Given the description of an element on the screen output the (x, y) to click on. 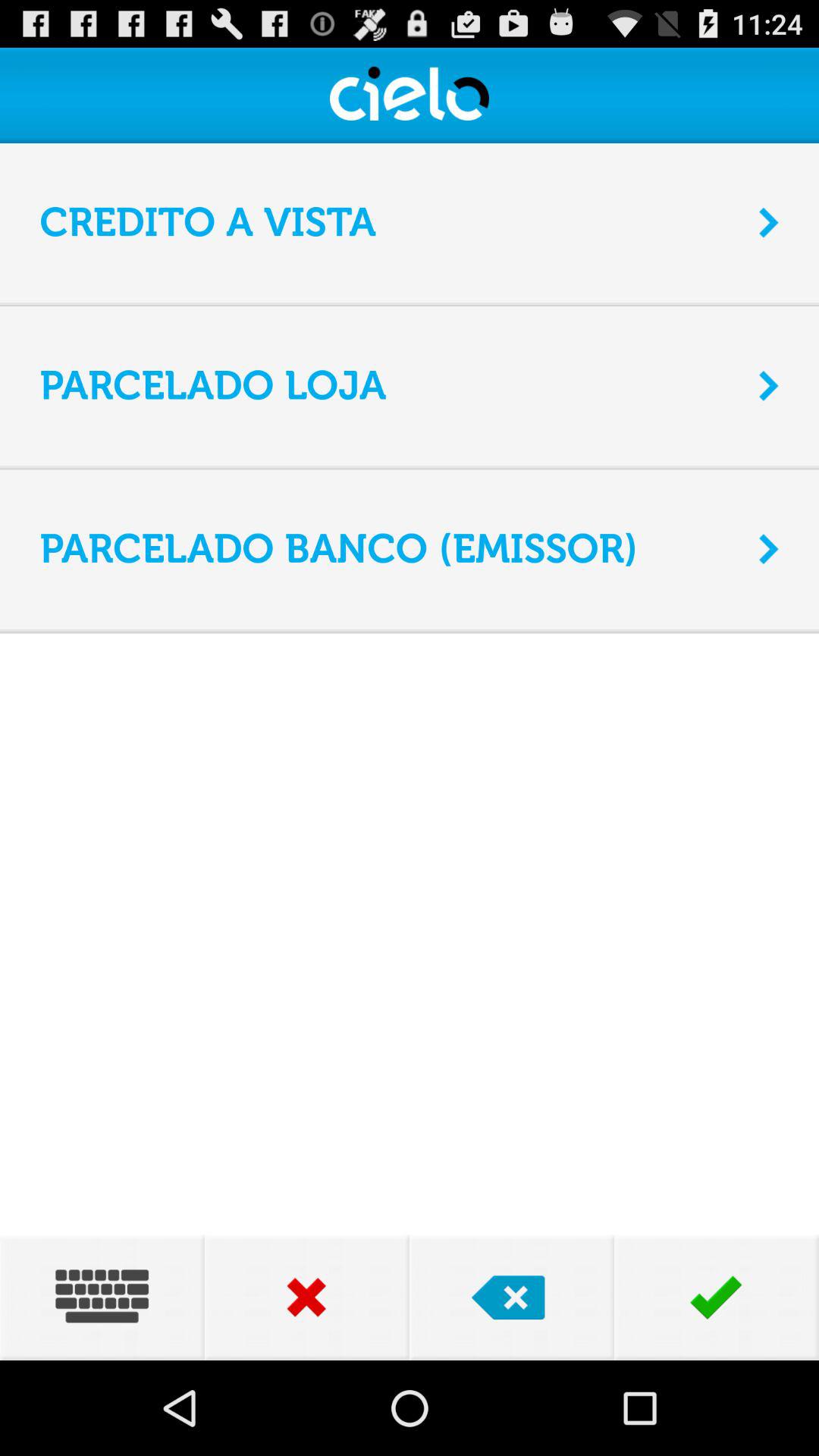
tap the icon below parcelado loja item (409, 466)
